Given the description of an element on the screen output the (x, y) to click on. 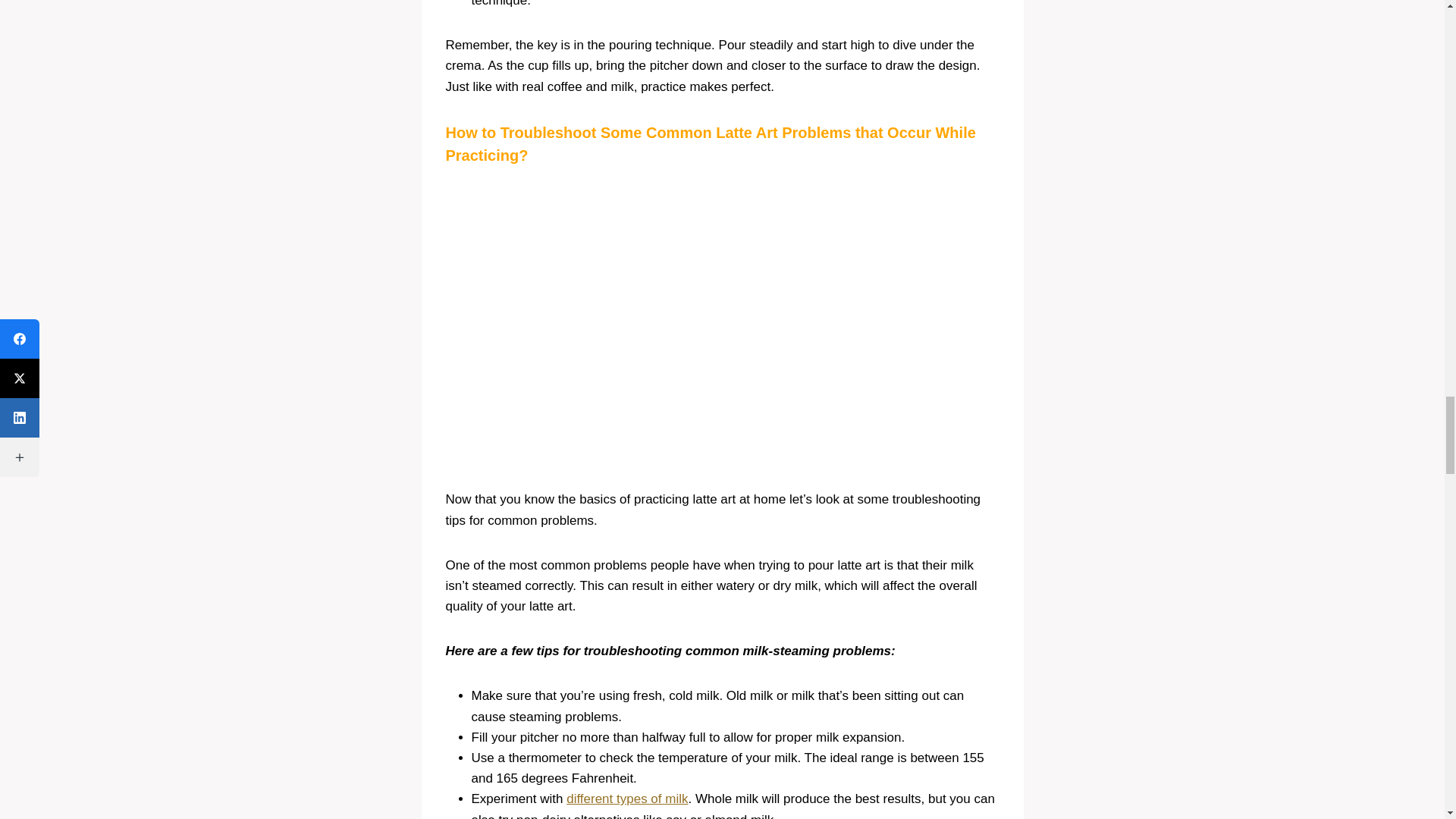
different types of milk (626, 798)
